Given the description of an element on the screen output the (x, y) to click on. 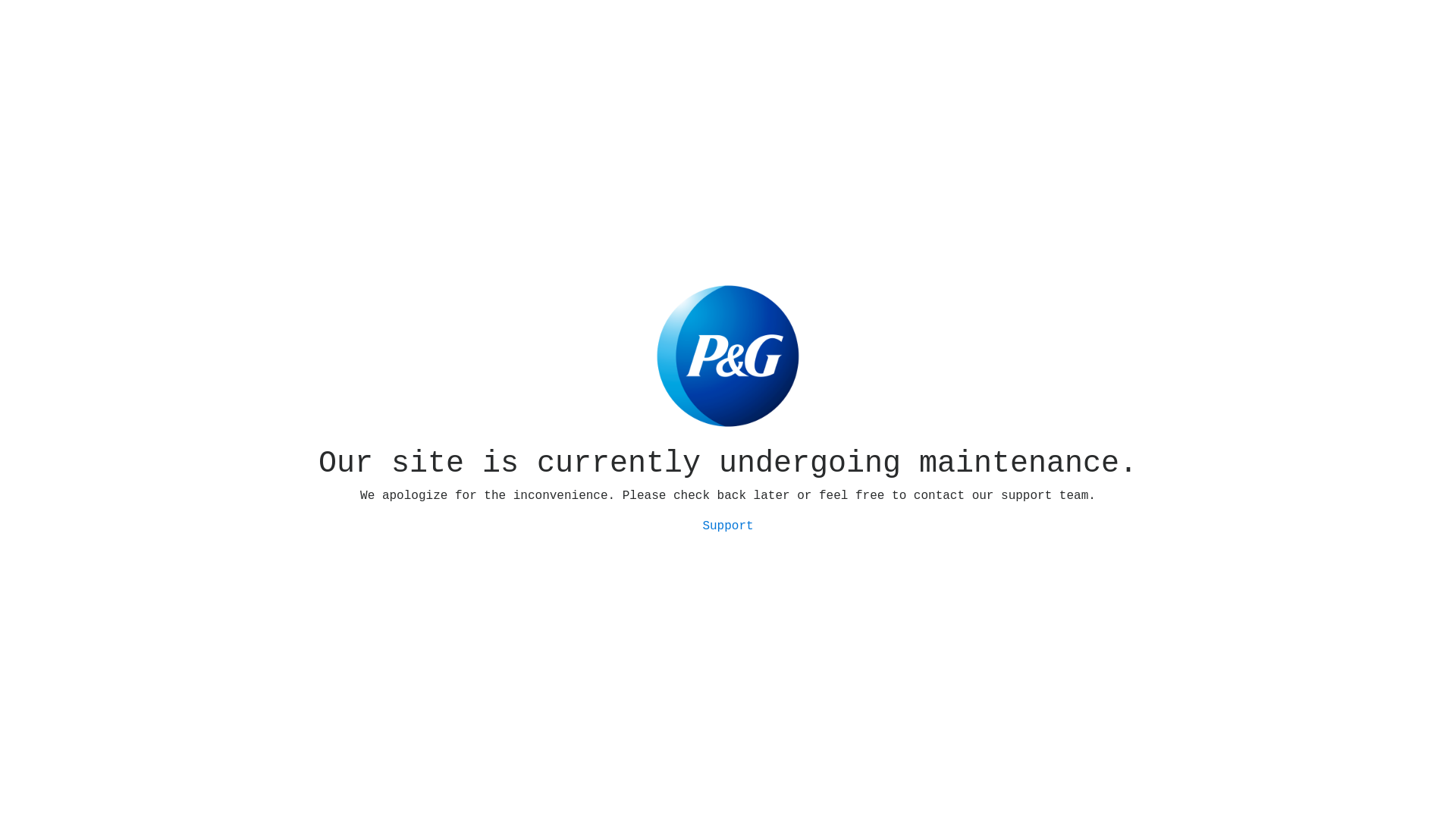
Support Element type: text (727, 526)
